Given the description of an element on the screen output the (x, y) to click on. 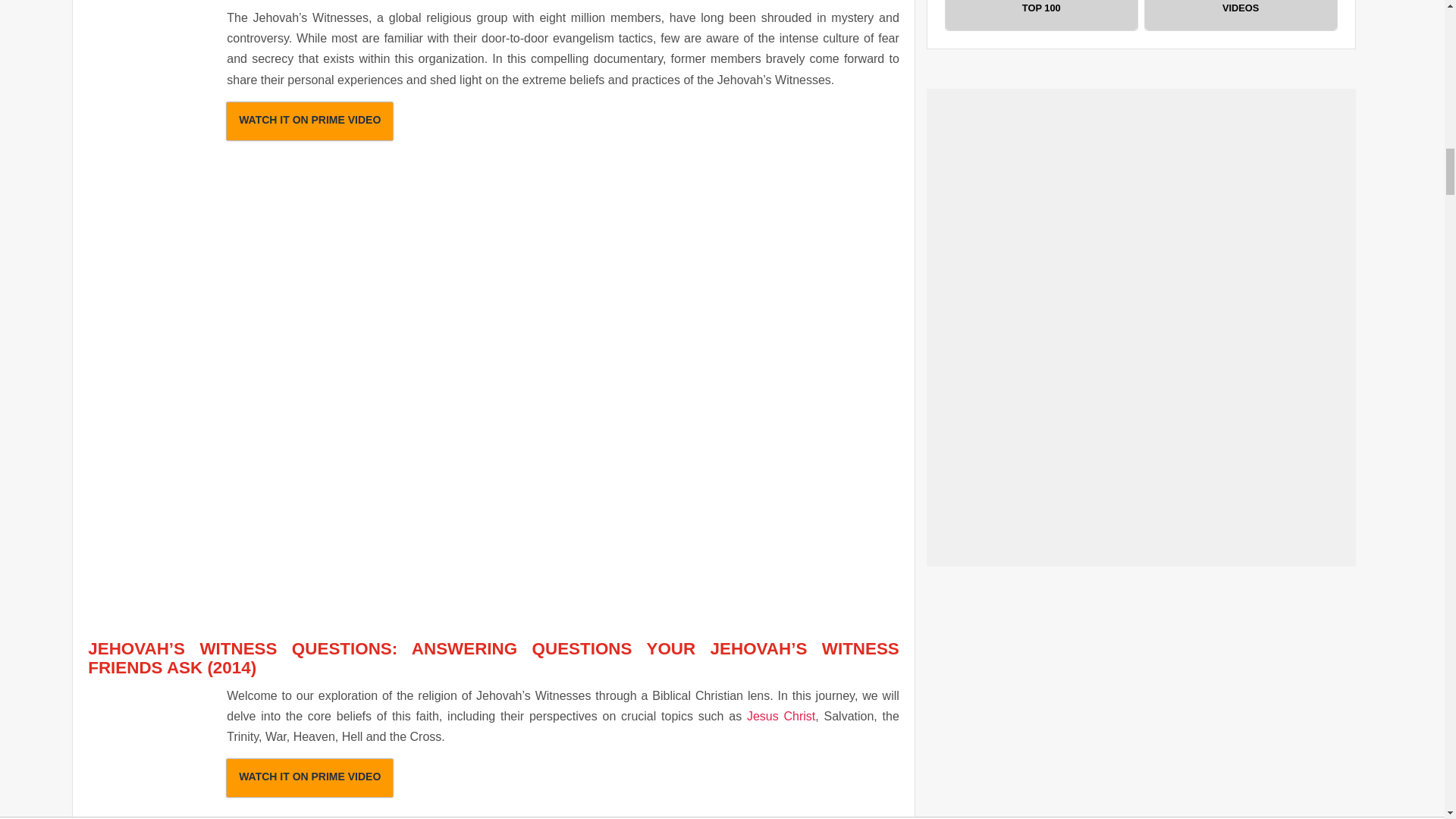
WATCH IT ON PRIME VIDEO (310, 121)
Watch it on Prime (310, 121)
WATCH IT ON PRIME VIDEO (310, 777)
Watch it on Prime (310, 777)
Jesus Christ (780, 716)
